Given the description of an element on the screen output the (x, y) to click on. 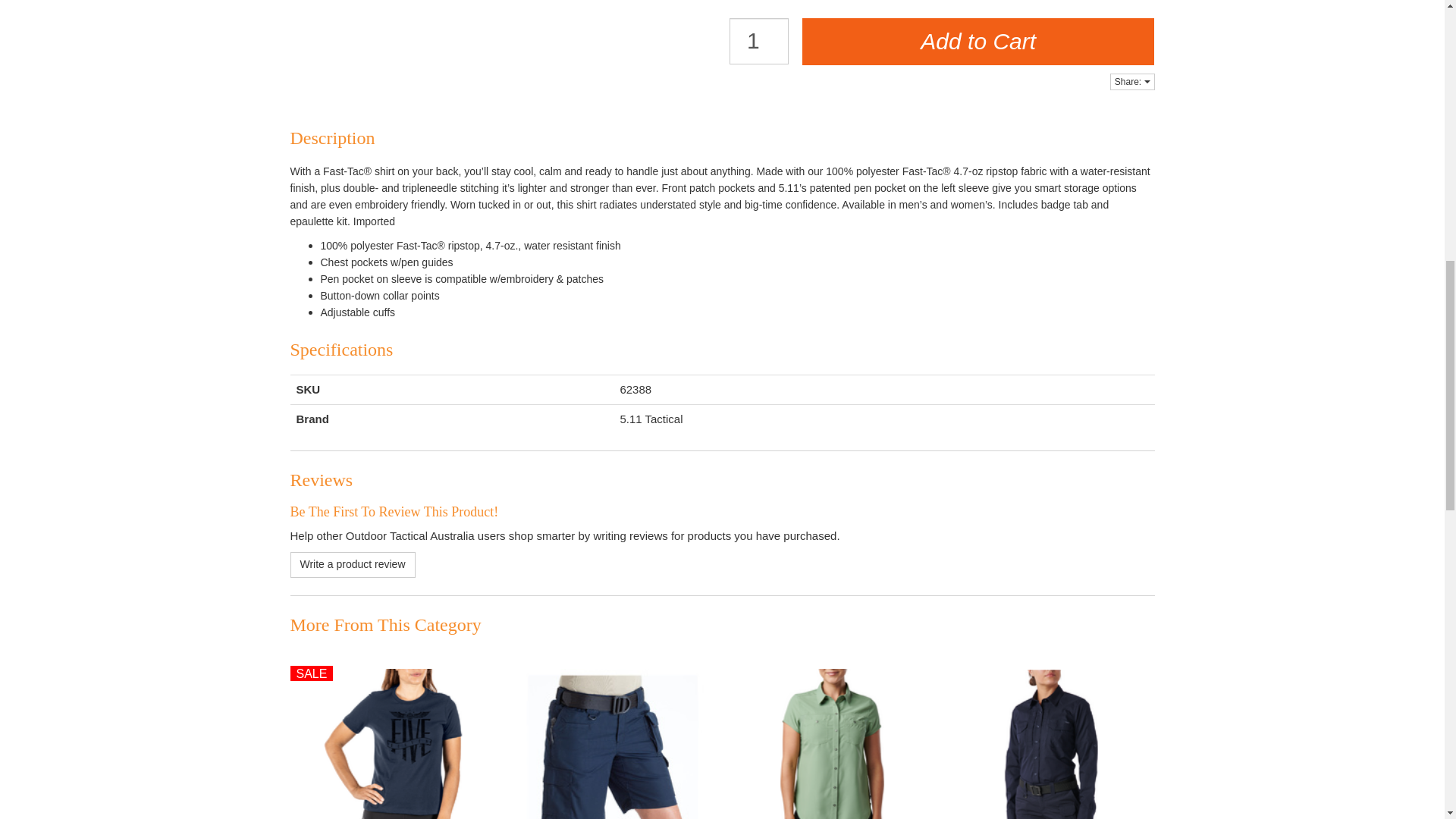
Add to Cart (978, 41)
1 (759, 41)
